Given the description of an element on the screen output the (x, y) to click on. 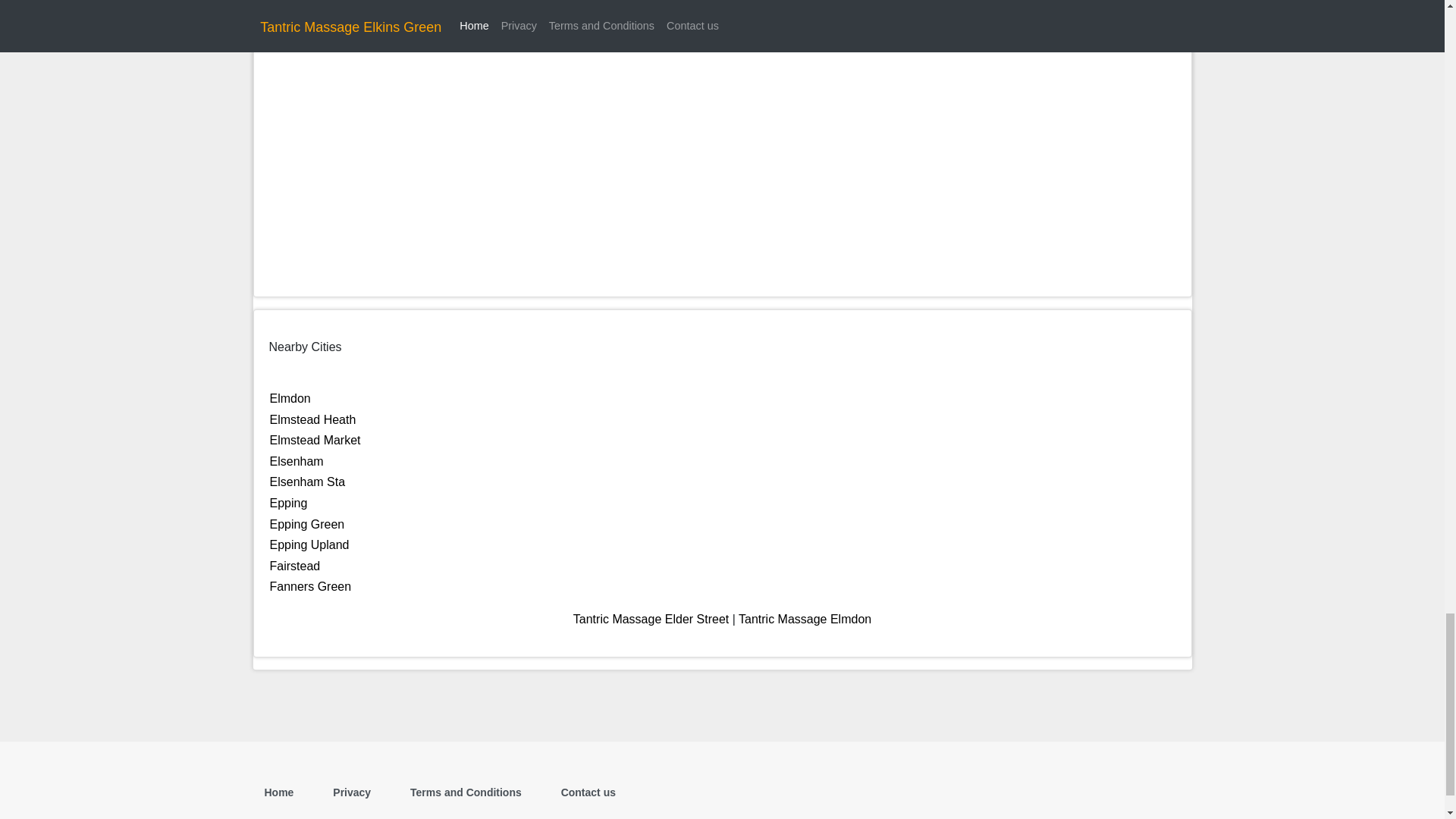
Elsenham Sta (307, 481)
Fanners Green (310, 585)
Elsenham (296, 461)
Tantric Massage Elder Street (651, 618)
Elmdon (290, 398)
Epping Green (307, 523)
Elmstead Market (315, 440)
Epping (288, 502)
Tantric Massage Elmdon (804, 618)
Elmstead Heath (312, 419)
Fairstead (294, 565)
Epping Upland (309, 544)
